Given the description of an element on the screen output the (x, y) to click on. 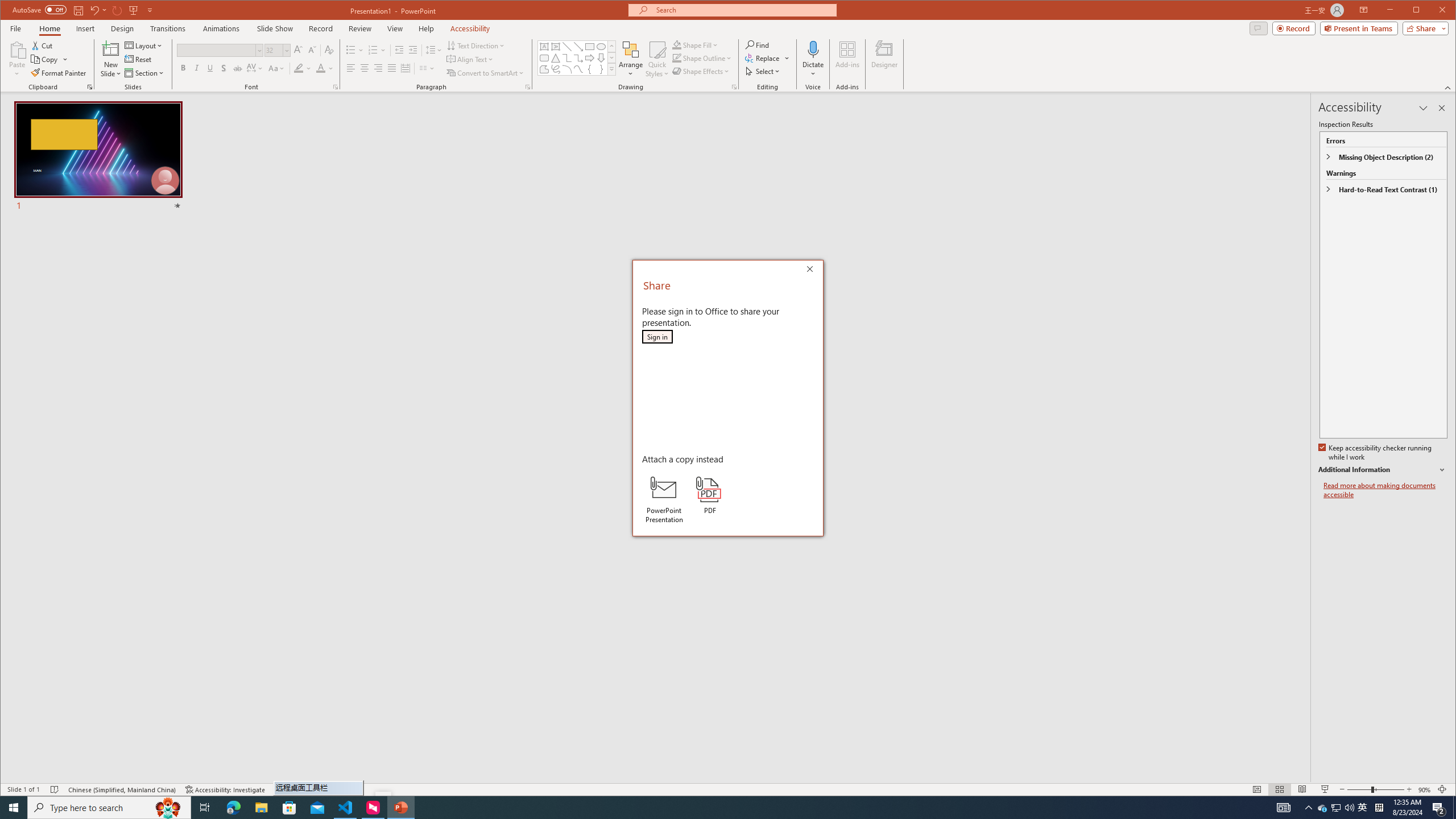
Visual Studio Code - 1 running window (345, 807)
Curve (577, 69)
PowerPoint - 1 running window (400, 807)
Layout (143, 45)
Freeform: Shape (544, 69)
Cut (42, 45)
Center (364, 68)
PowerPoint Presentation (663, 499)
